Given the description of an element on the screen output the (x, y) to click on. 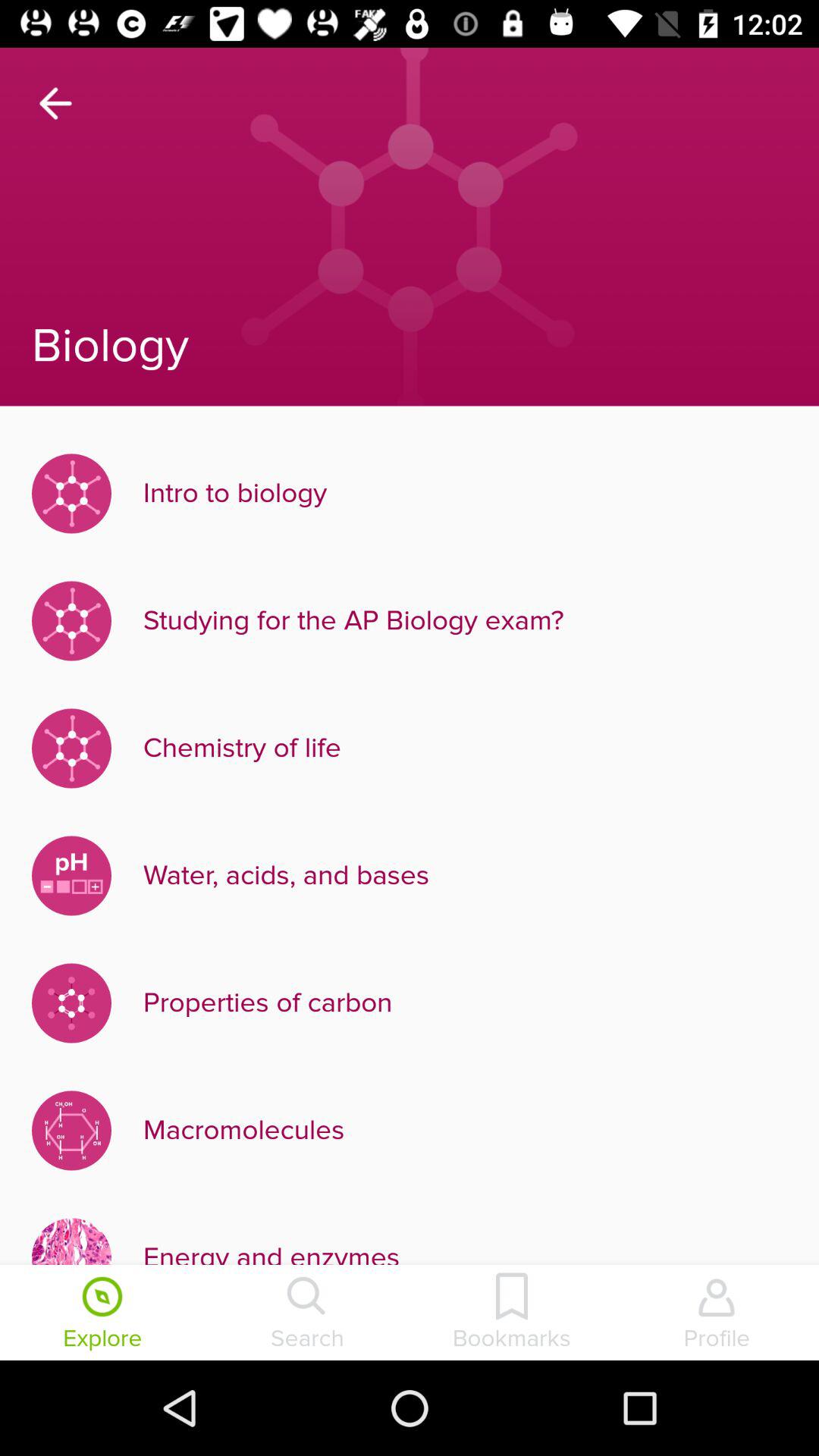
turn on item next to the bookmarks icon (716, 1314)
